Given the description of an element on the screen output the (x, y) to click on. 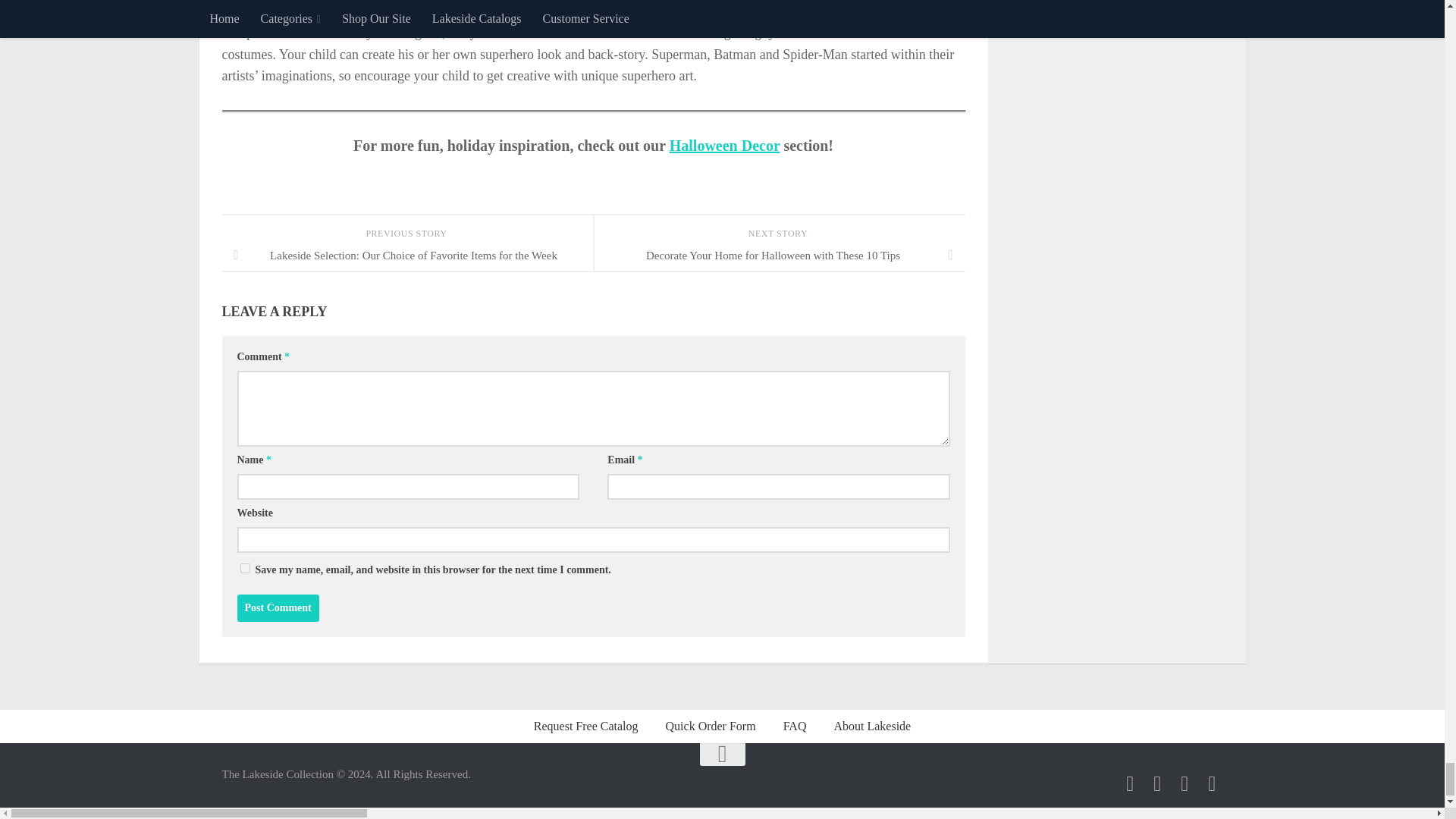
Follow Us On Facebook (1129, 783)
Follow Us On Twitter (1157, 783)
yes (244, 568)
Follow Us On Pinterest (1212, 783)
Post Comment (276, 607)
Follow Us On Instagram (1184, 783)
